Given the description of an element on the screen output the (x, y) to click on. 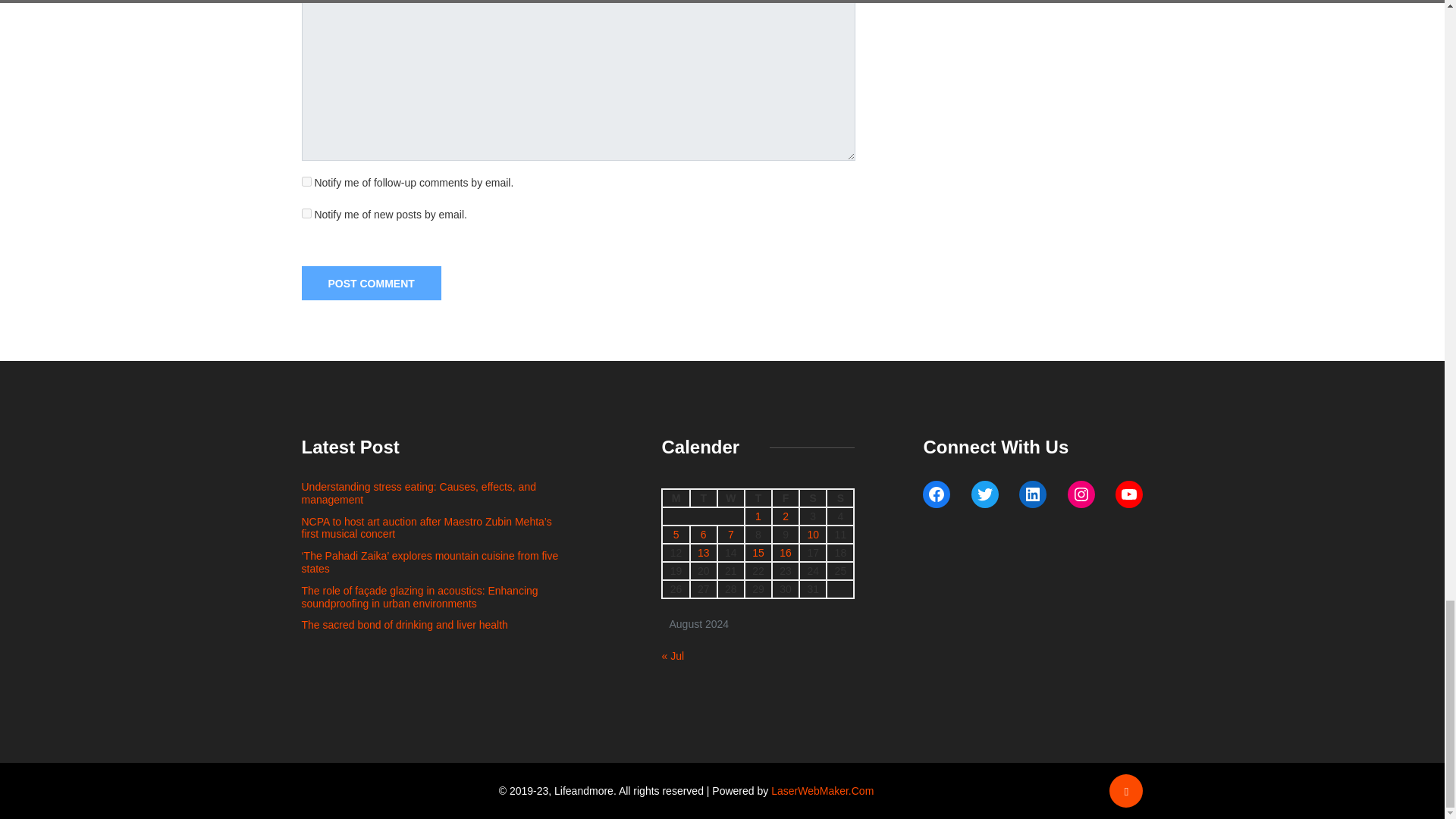
subscribe (306, 213)
subscribe (306, 181)
Post Comment (371, 283)
